Given the description of an element on the screen output the (x, y) to click on. 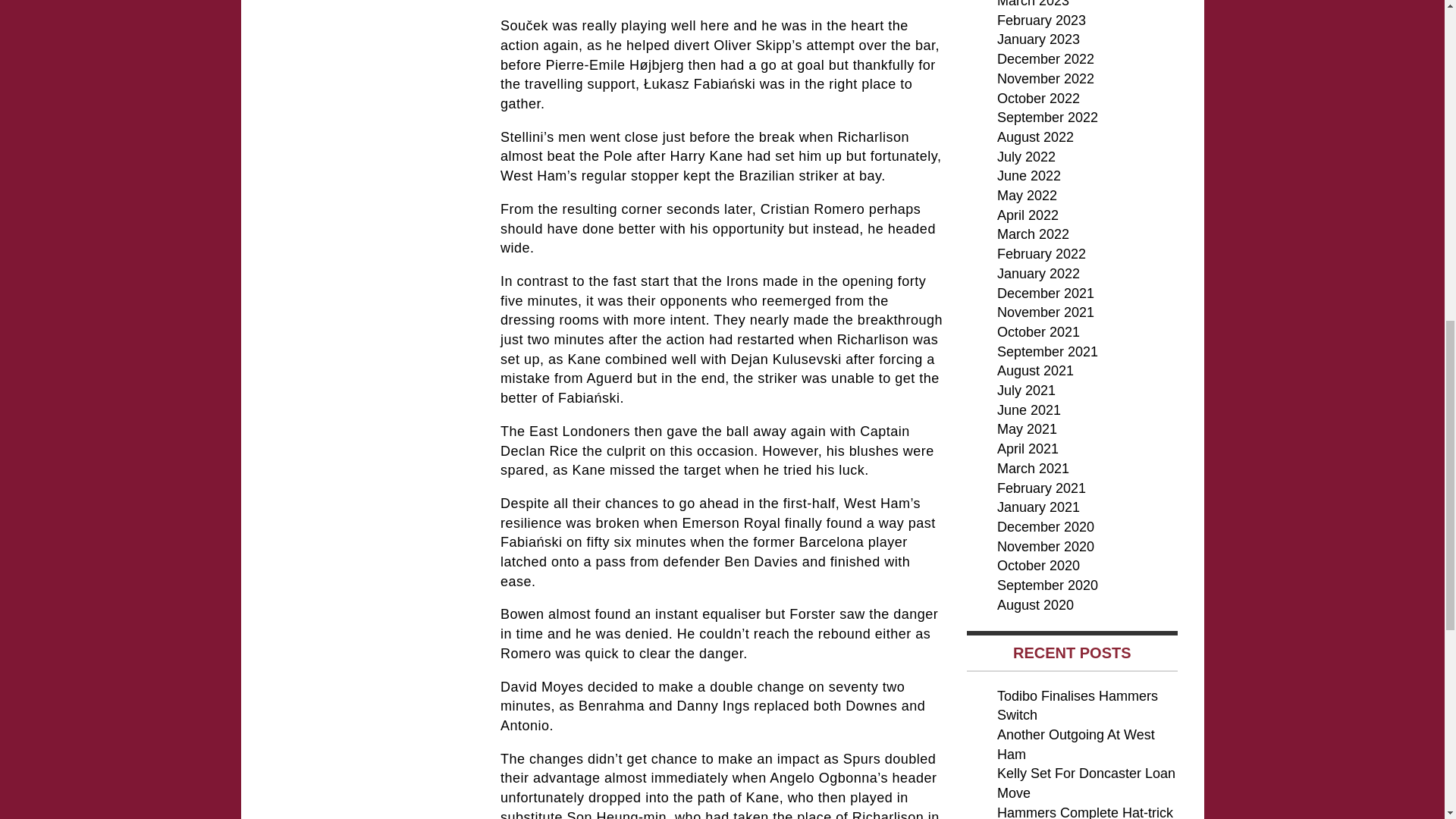
March 2023 (1032, 4)
October 2022 (1038, 98)
January 2023 (1038, 38)
February 2023 (1041, 20)
December 2022 (1045, 58)
November 2022 (1045, 78)
September 2022 (1047, 117)
